Given the description of an element on the screen output the (x, y) to click on. 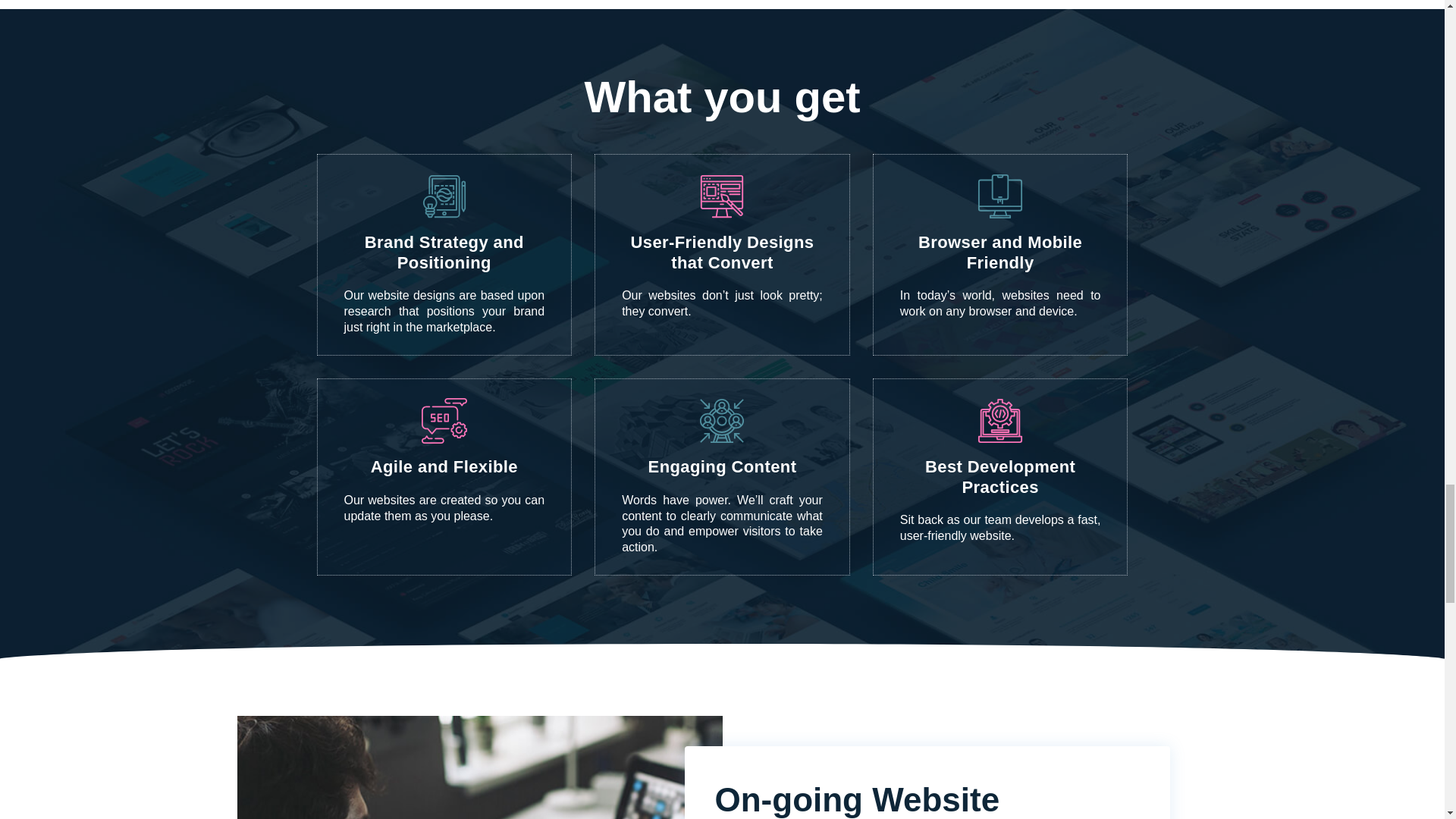
Brand Strategy and Positioning (444, 251)
Engaging Content (721, 466)
Best Development Practices (999, 476)
Agile and Flexible (444, 466)
Browser and Mobile Friendly (999, 251)
User-Friendly Designs that Convert (721, 251)
